Given the description of an element on the screen output the (x, y) to click on. 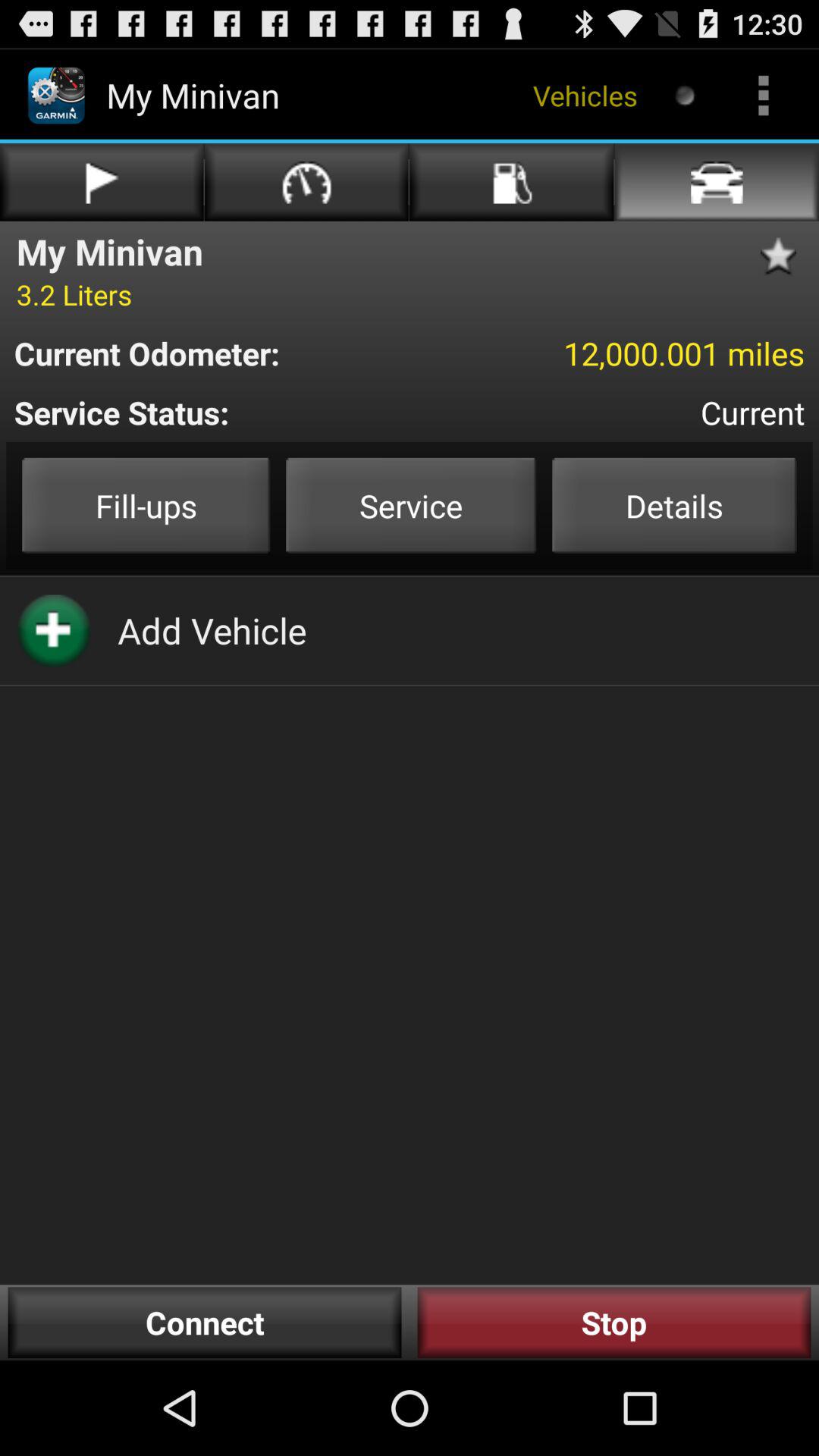
click app below the service status: item (146, 505)
